Given the description of an element on the screen output the (x, y) to click on. 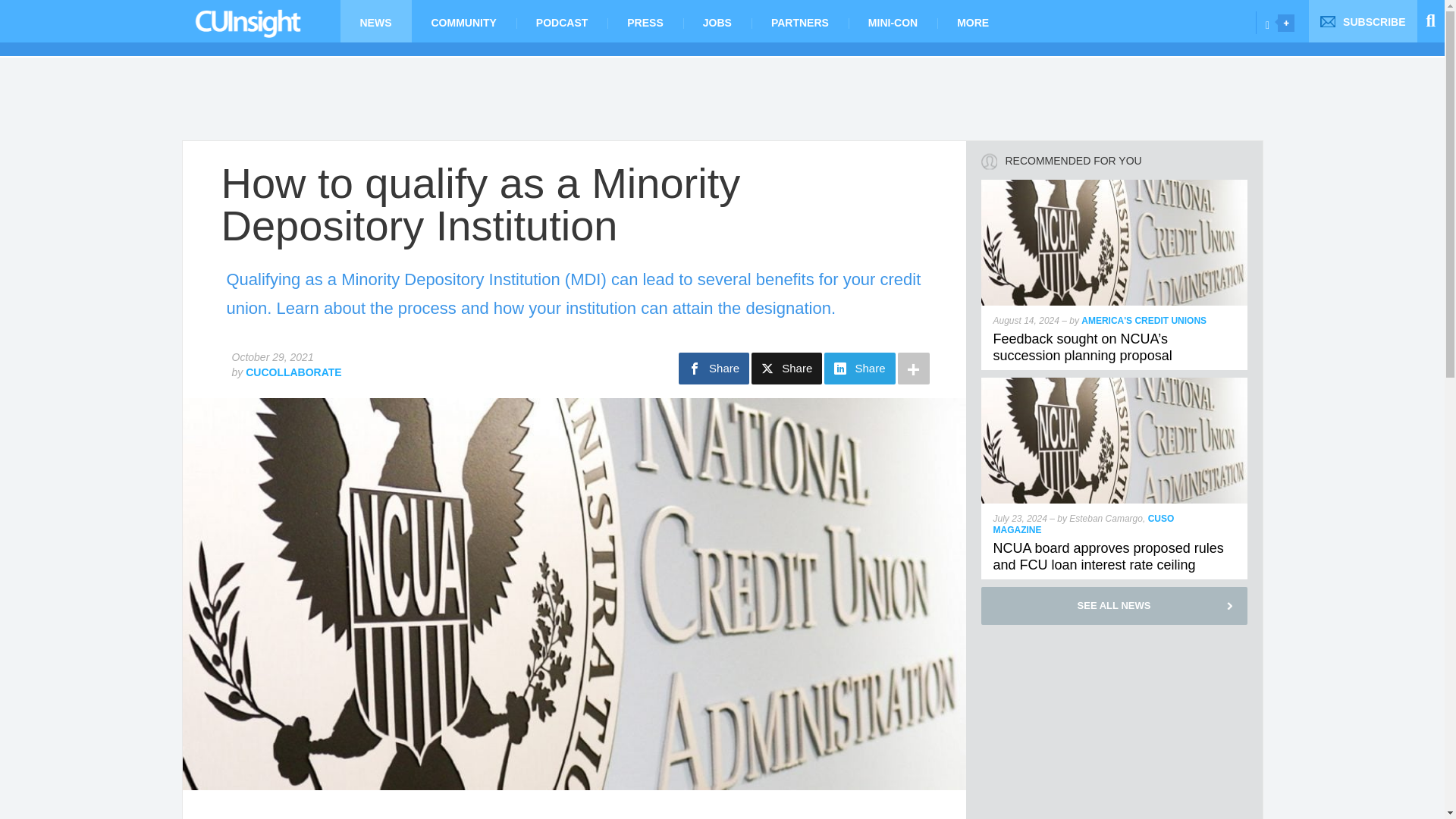
Share (786, 368)
JOBS (716, 21)
PODCAST (561, 21)
COMMUNITY (462, 21)
PARTNERS (799, 21)
MORE (973, 21)
MINI-CON (892, 21)
Share (713, 368)
Share (859, 368)
